Given the description of an element on the screen output the (x, y) to click on. 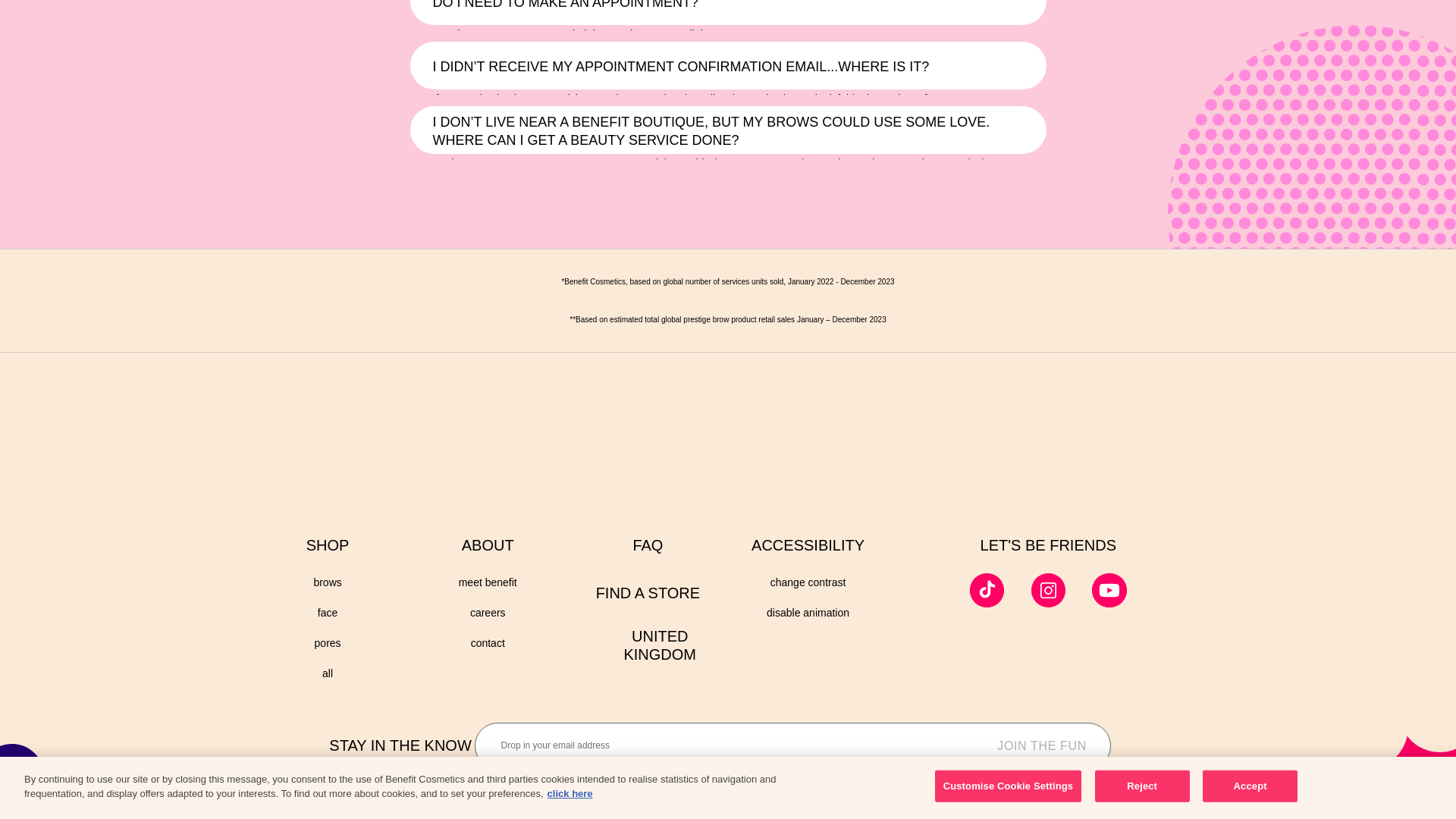
Tiktok (986, 590)
